Given the description of an element on the screen output the (x, y) to click on. 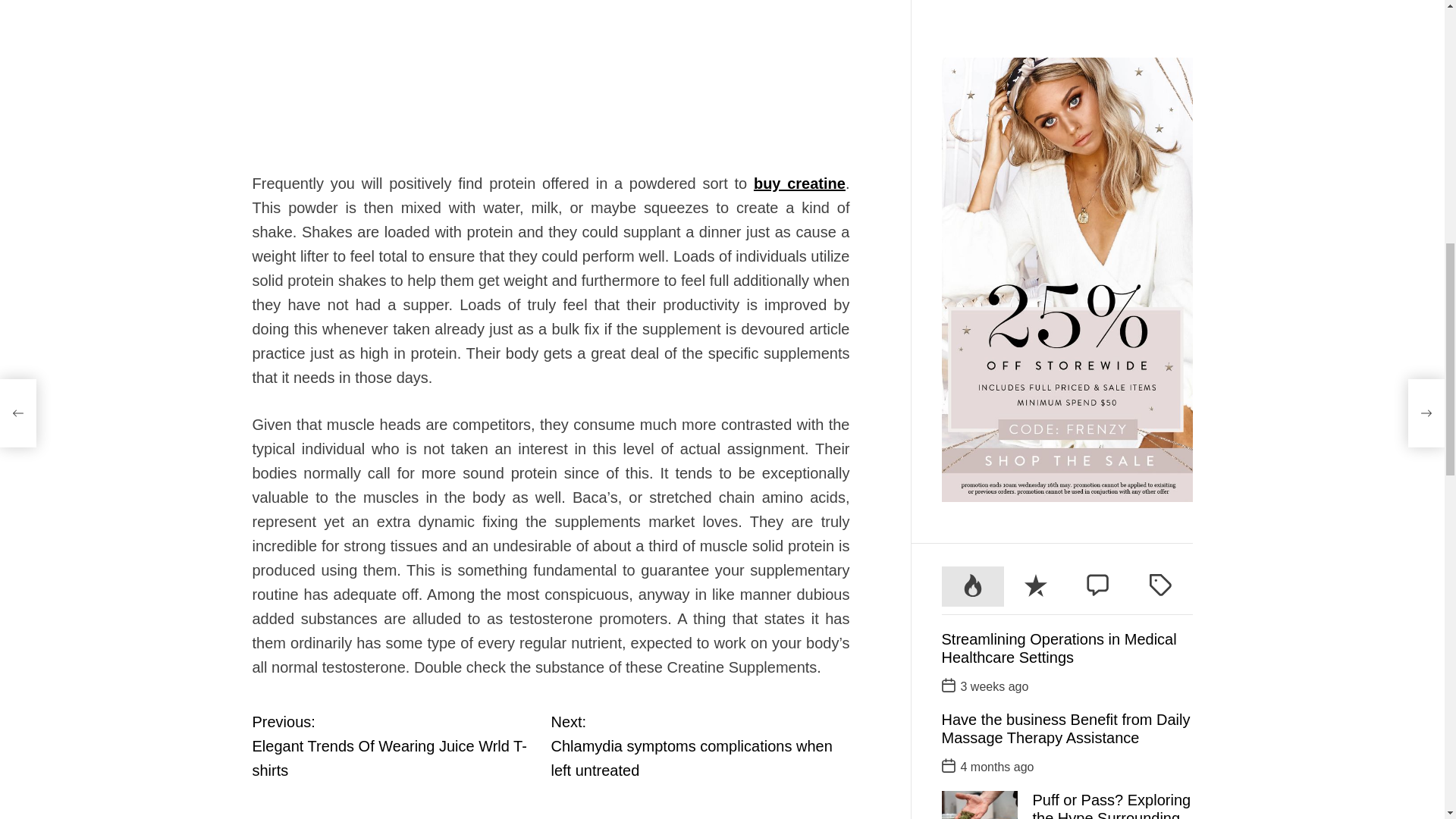
Streamlining Operations in Medical Healthcare Settings (1059, 126)
Tagged (699, 746)
buy creatine (1160, 65)
Recent (799, 183)
Comment (1035, 65)
Popular (1098, 65)
